Given the description of an element on the screen output the (x, y) to click on. 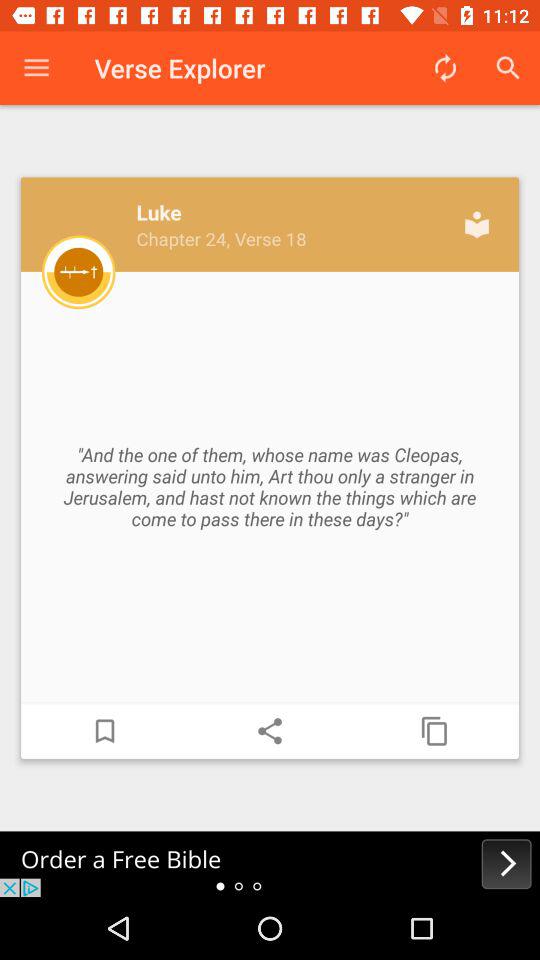
bookmark current page (105, 731)
